Given the description of an element on the screen output the (x, y) to click on. 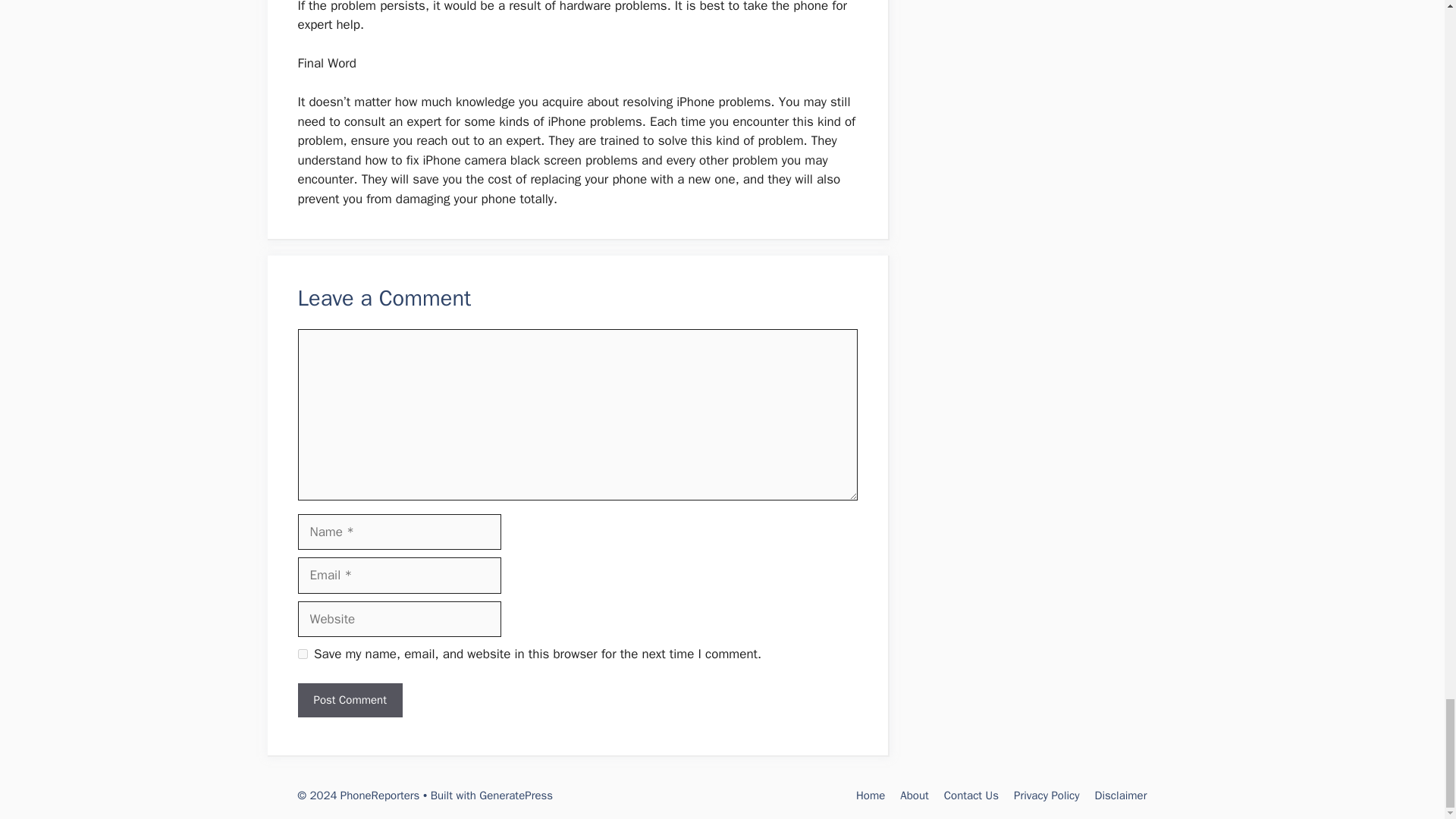
About (913, 795)
Privacy Policy (1046, 795)
Post Comment (349, 700)
yes (302, 654)
Disclaimer (1120, 795)
Post Comment (349, 700)
GeneratePress (516, 795)
Home (870, 795)
Contact Us (970, 795)
